Given the description of an element on the screen output the (x, y) to click on. 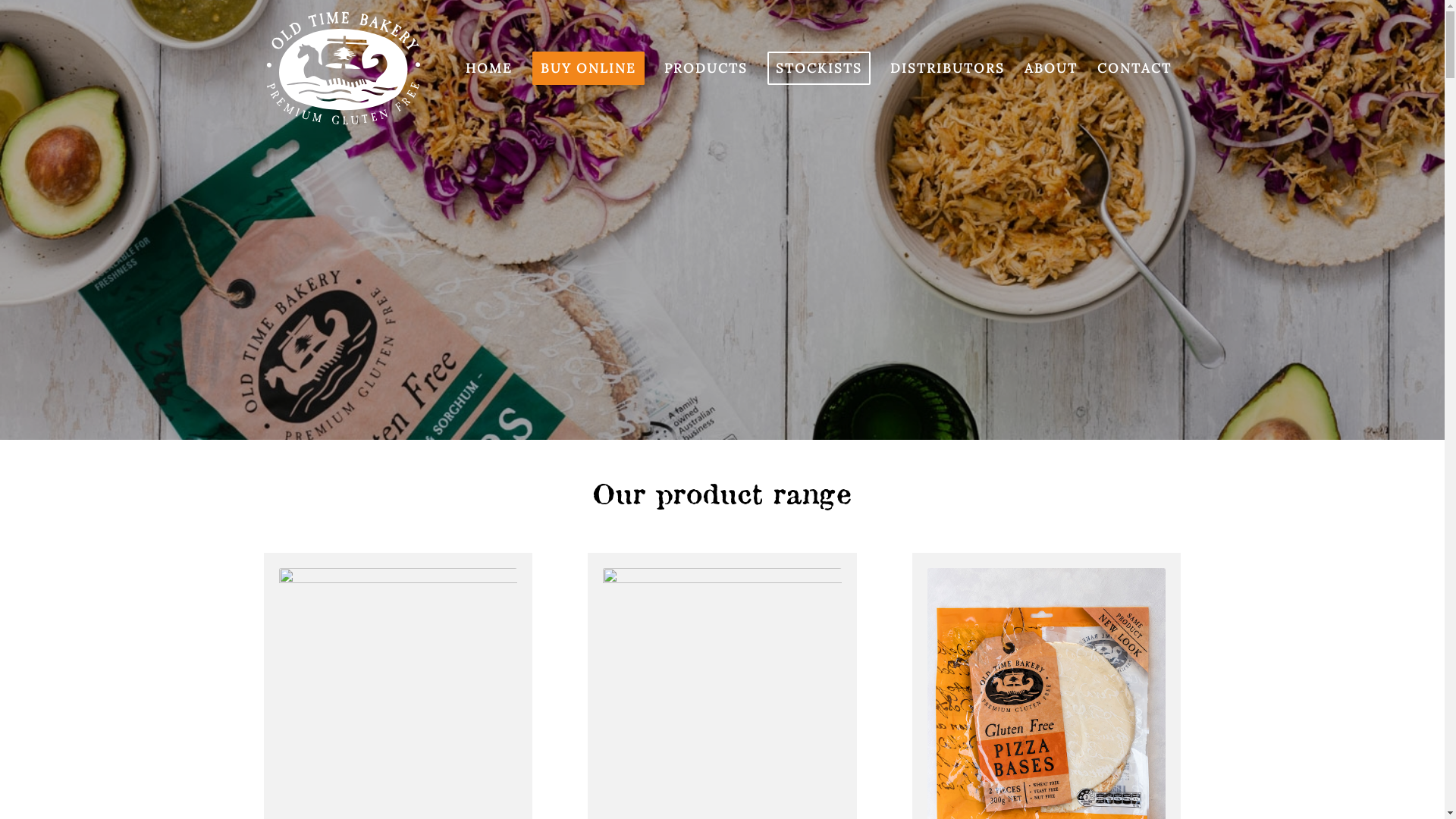
DISTRIBUTORS Element type: text (946, 68)
PRODUCTS Element type: text (704, 68)
ABOUT Element type: text (1050, 68)
STOCKISTS Element type: text (817, 68)
BUY ONLINE Element type: text (587, 68)
CONTACT Element type: text (1134, 68)
HOME Element type: text (488, 68)
